Given the description of an element on the screen output the (x, y) to click on. 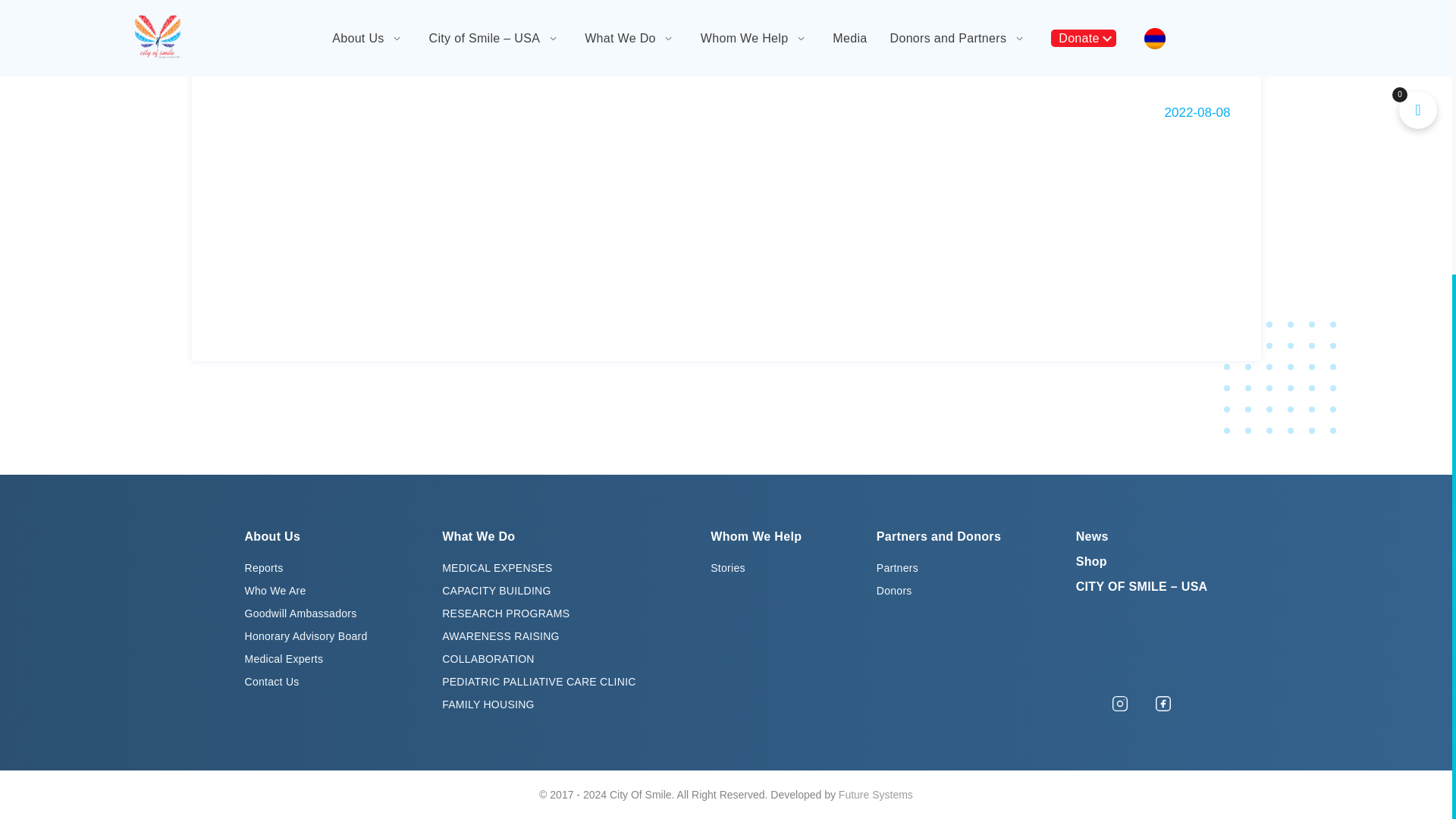
Medical Experts (283, 658)
Honorary Advisory Board (305, 635)
Who We Are (274, 590)
Reports (263, 567)
Goodwill Ambassadors (300, 613)
